Given the description of an element on the screen output the (x, y) to click on. 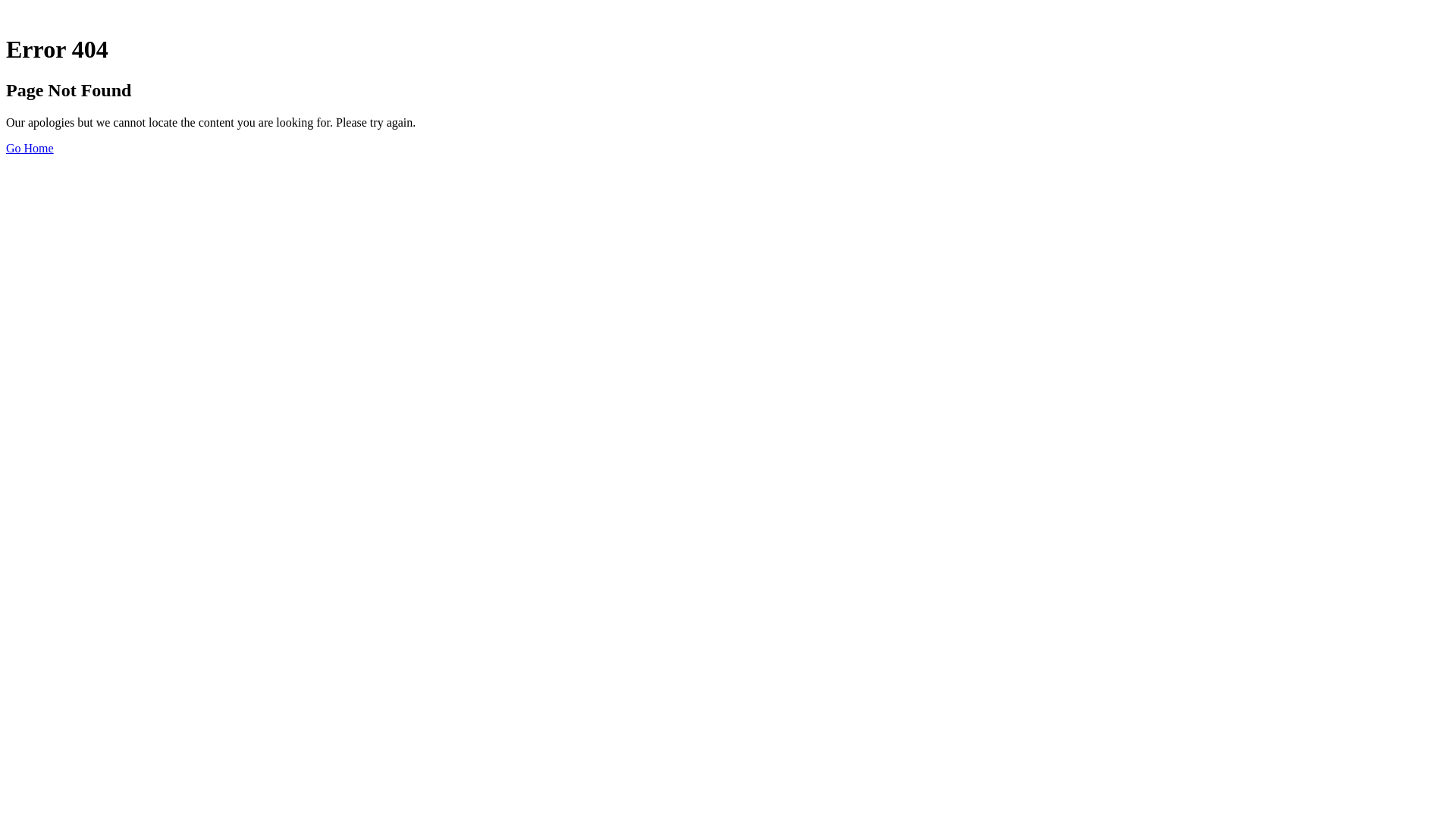
Go Home Element type: text (29, 147)
